Given the description of an element on the screen output the (x, y) to click on. 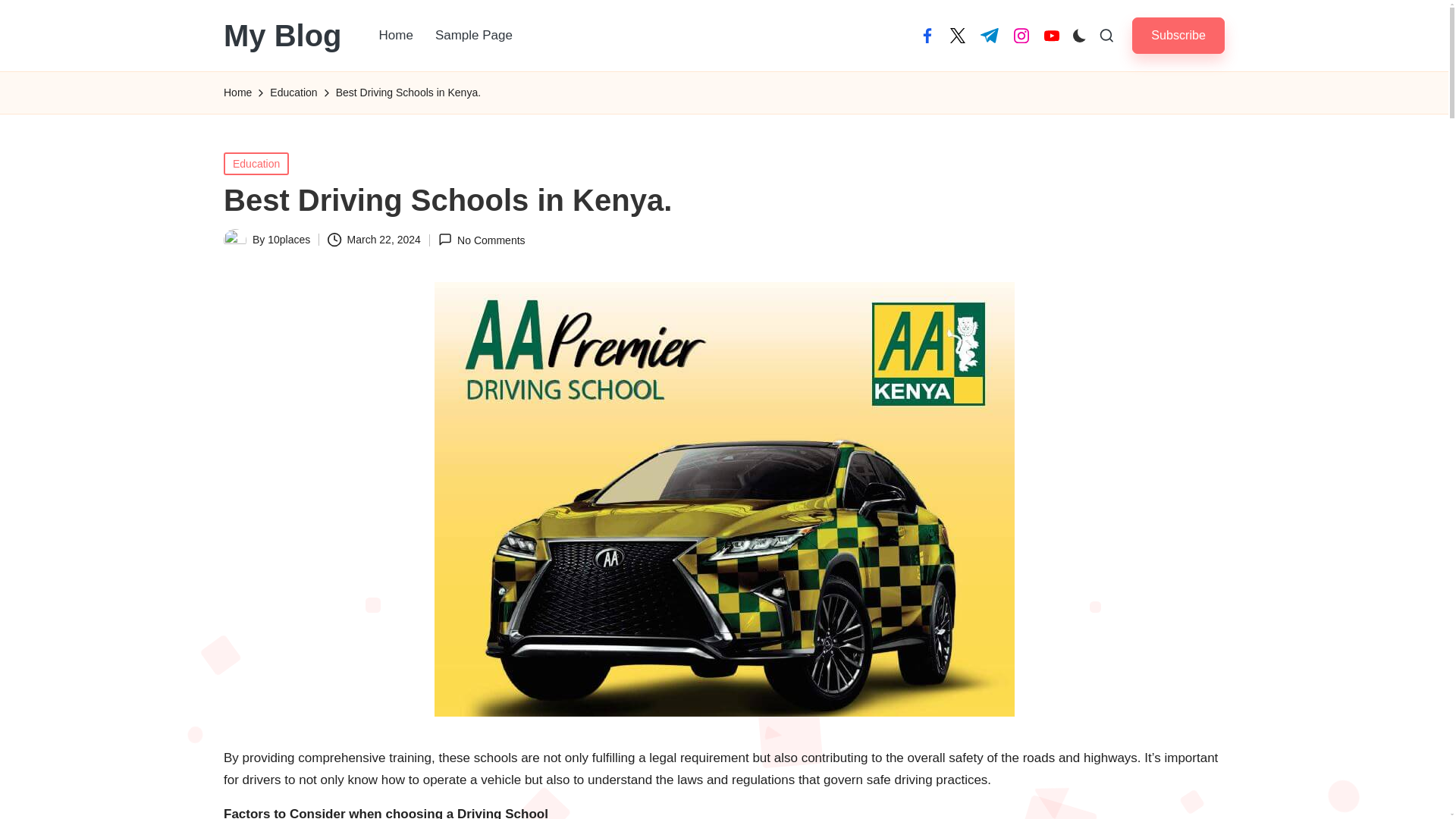
Subscribe (1178, 35)
Education (293, 92)
My Blog (283, 35)
Sample Page (473, 35)
twitter.com (957, 35)
Home (237, 92)
View all posts by 10places (288, 239)
facebook.com (927, 35)
youtube.com (1051, 35)
instagram.com (1020, 35)
Home (395, 35)
Education (256, 162)
t.me (989, 35)
10places (288, 239)
No Comments (481, 239)
